Given the description of an element on the screen output the (x, y) to click on. 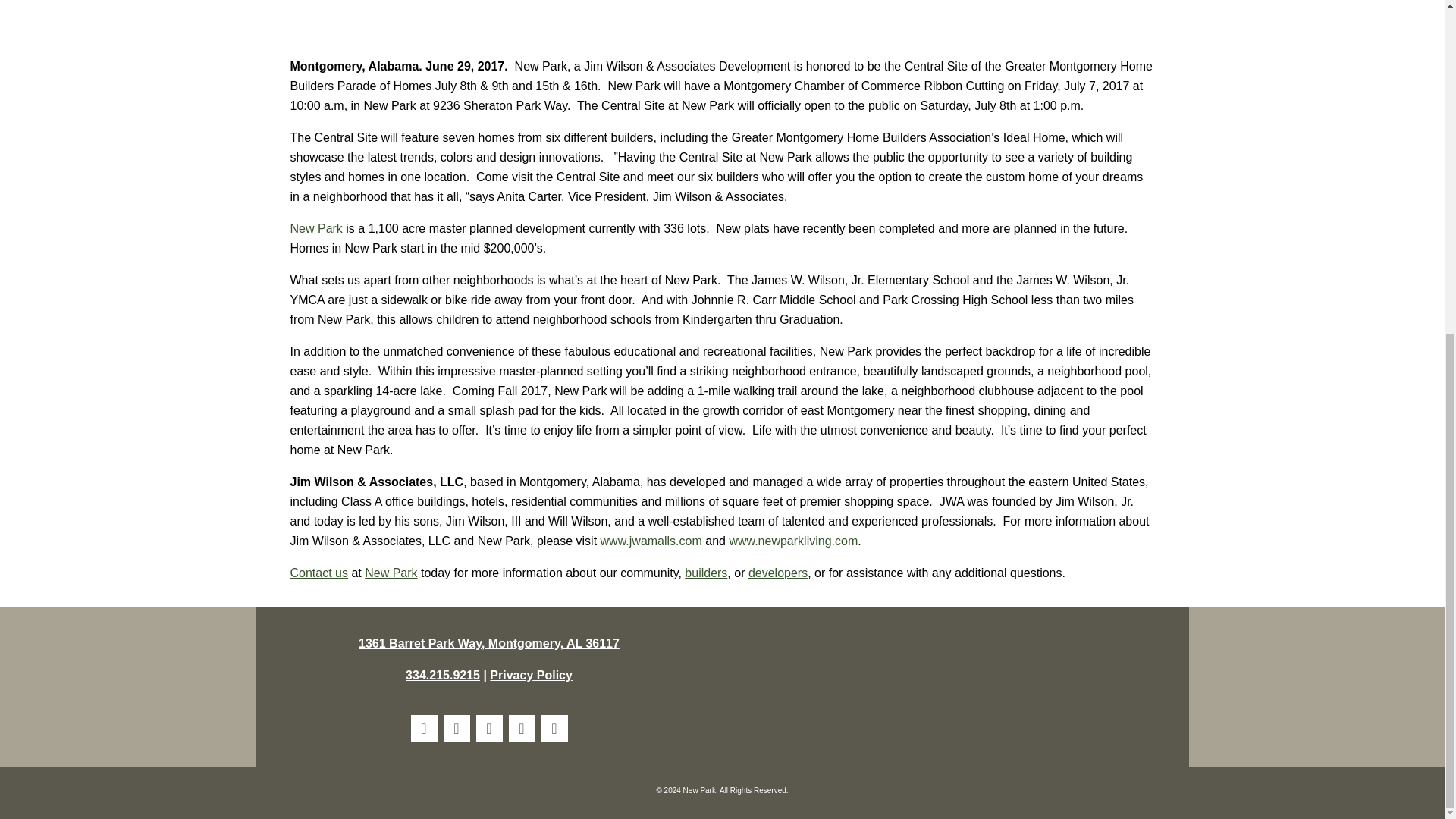
334.215.9215 (443, 675)
New Park (315, 228)
Privacy Policy (530, 675)
1361 Barret Park Way, Montgomery, AL 36117 (489, 643)
www.newparkliving.com (793, 540)
7dd9b3f8-4e8e-4120-9d97-c68ff49c714f (799, 688)
Contact us (318, 572)
builders (705, 572)
www.jwamalls.com (650, 540)
developers (778, 572)
